Given the description of an element on the screen output the (x, y) to click on. 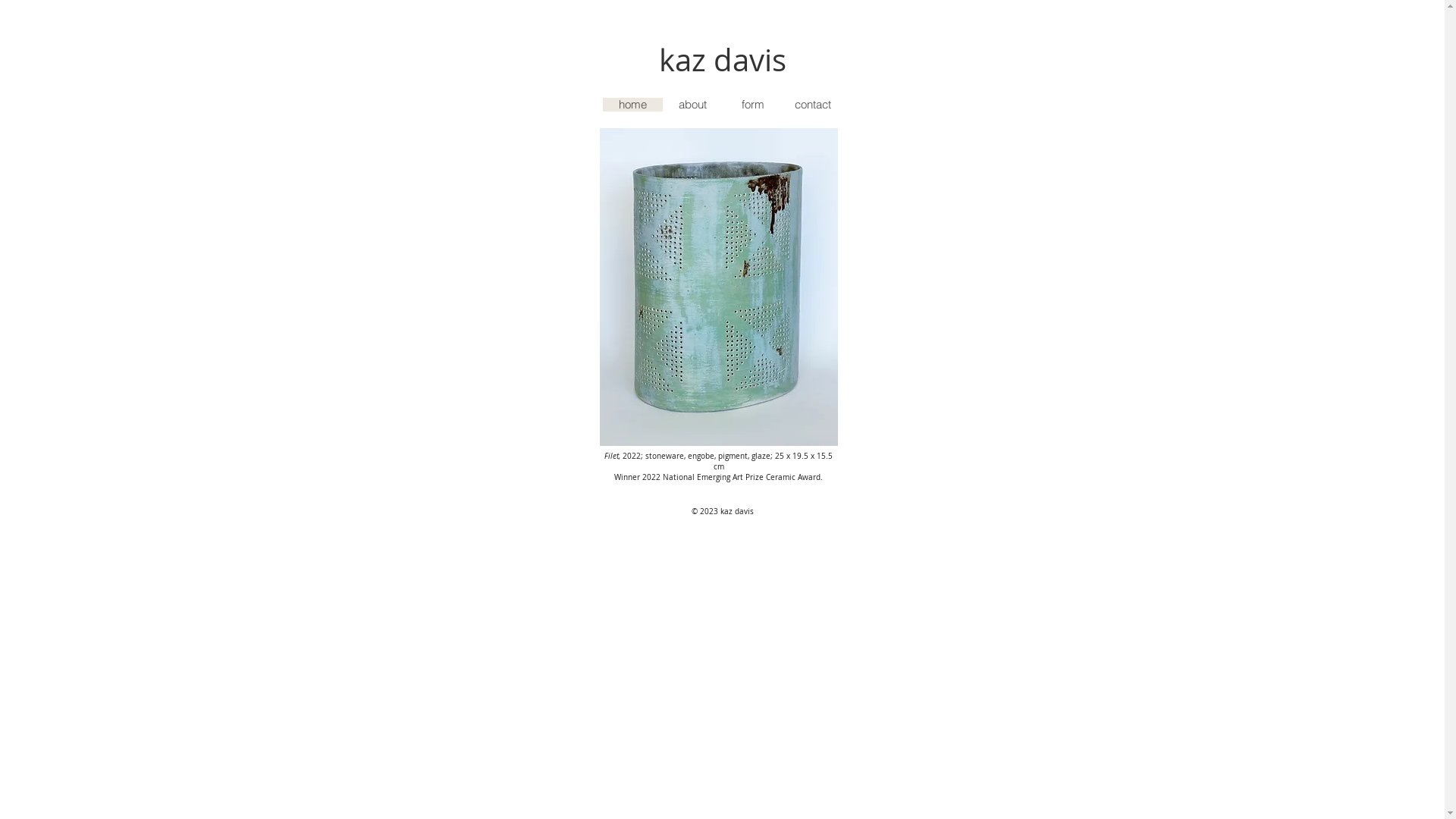
form Element type: text (751, 104)
contact Element type: text (812, 104)
home Element type: text (632, 104)
about Element type: text (692, 104)
